Given the description of an element on the screen output the (x, y) to click on. 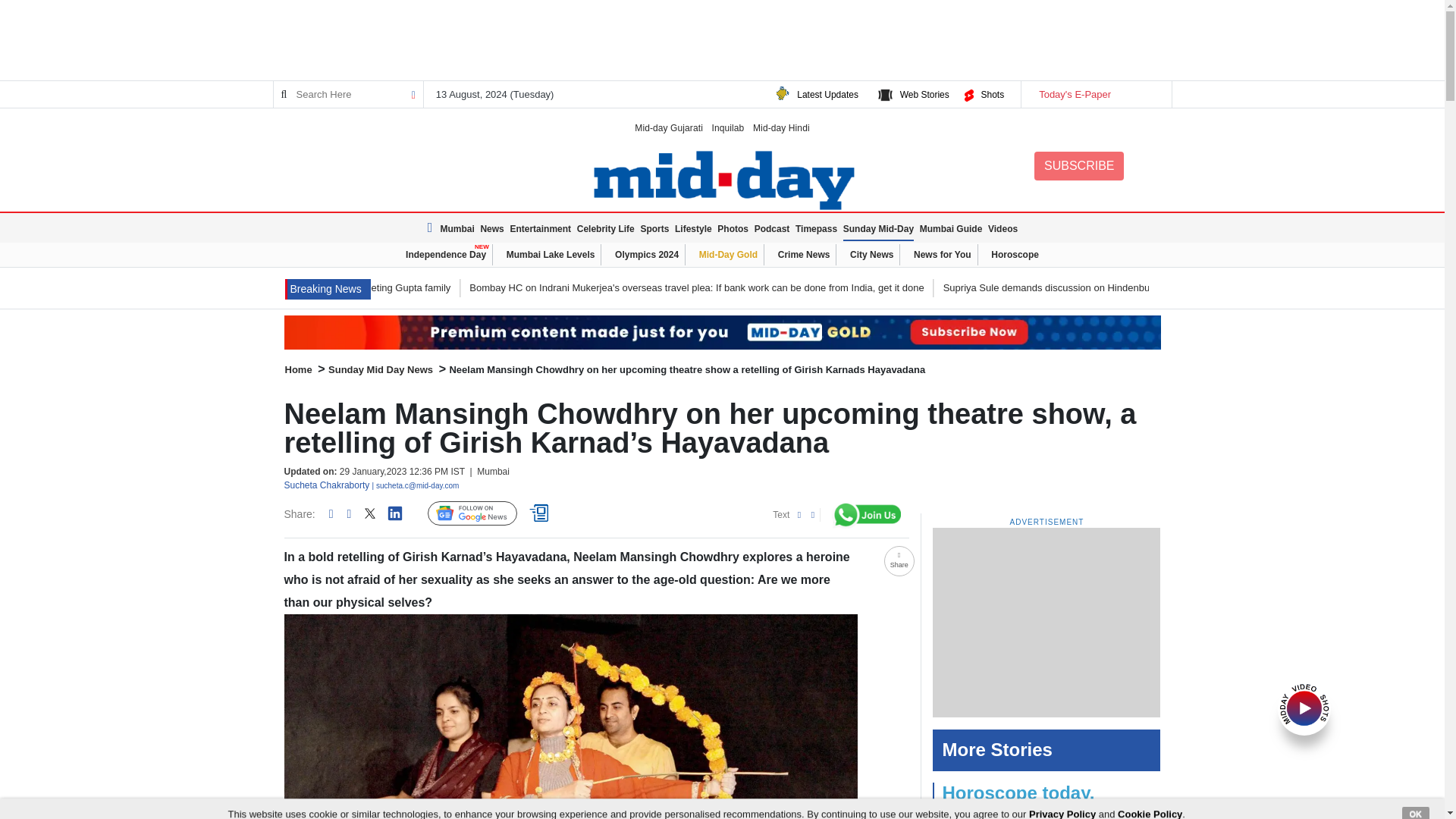
Mid-day Hindi (780, 127)
Midday Shot Videos (1304, 706)
Web Stories (924, 94)
Latest Updates (827, 94)
Mid-day Gujarati (668, 127)
Inquilab (728, 127)
Shots (991, 94)
SUBSCRIBE (1078, 165)
Latest News (432, 227)
Quick Reads (541, 513)
